Given the description of an element on the screen output the (x, y) to click on. 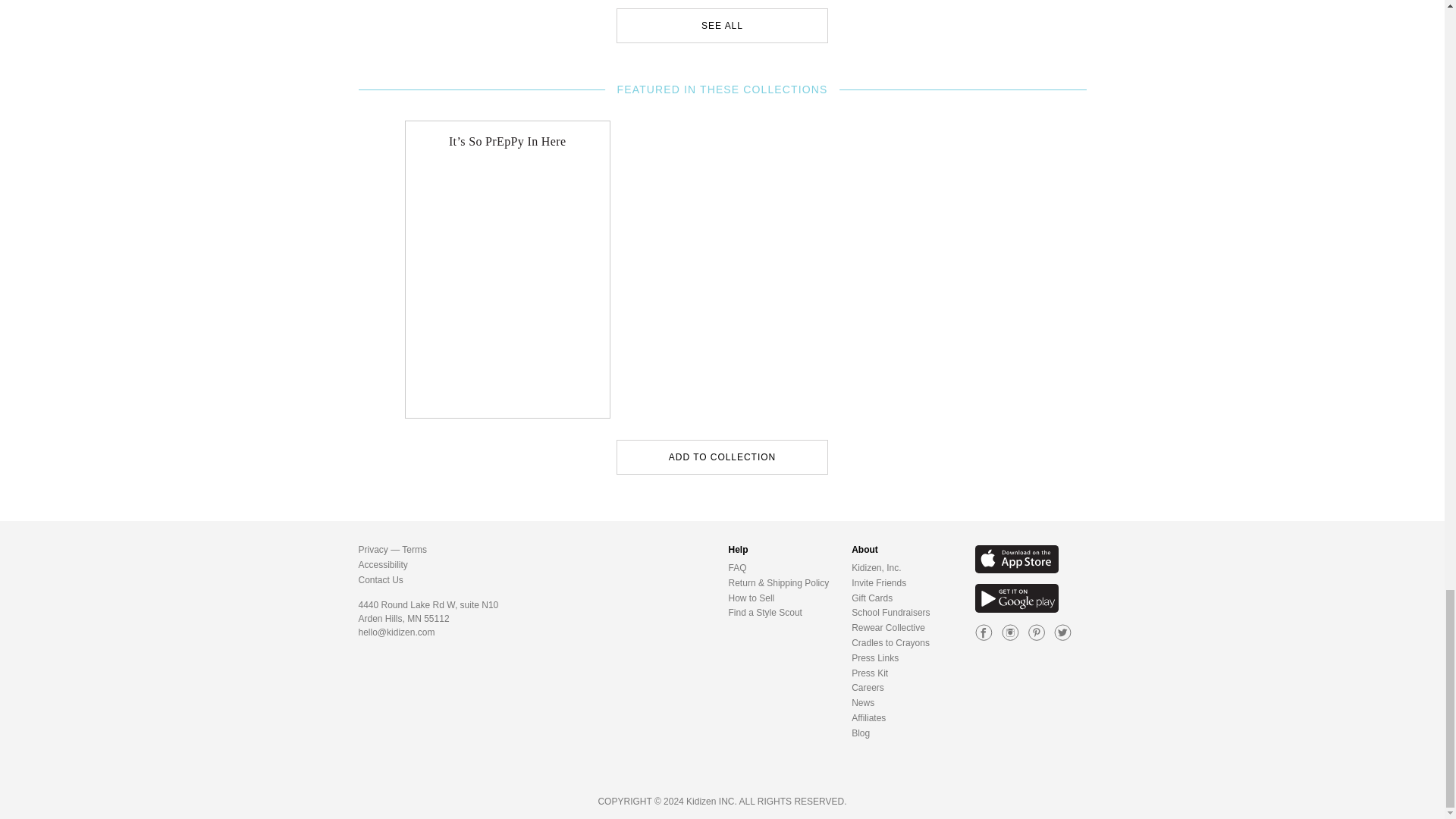
Group 2 Created with Sketch. (983, 632)
Group 3 Created with Sketch. (1010, 632)
Group 5 Created with Sketch. (1036, 632)
